Given the description of an element on the screen output the (x, y) to click on. 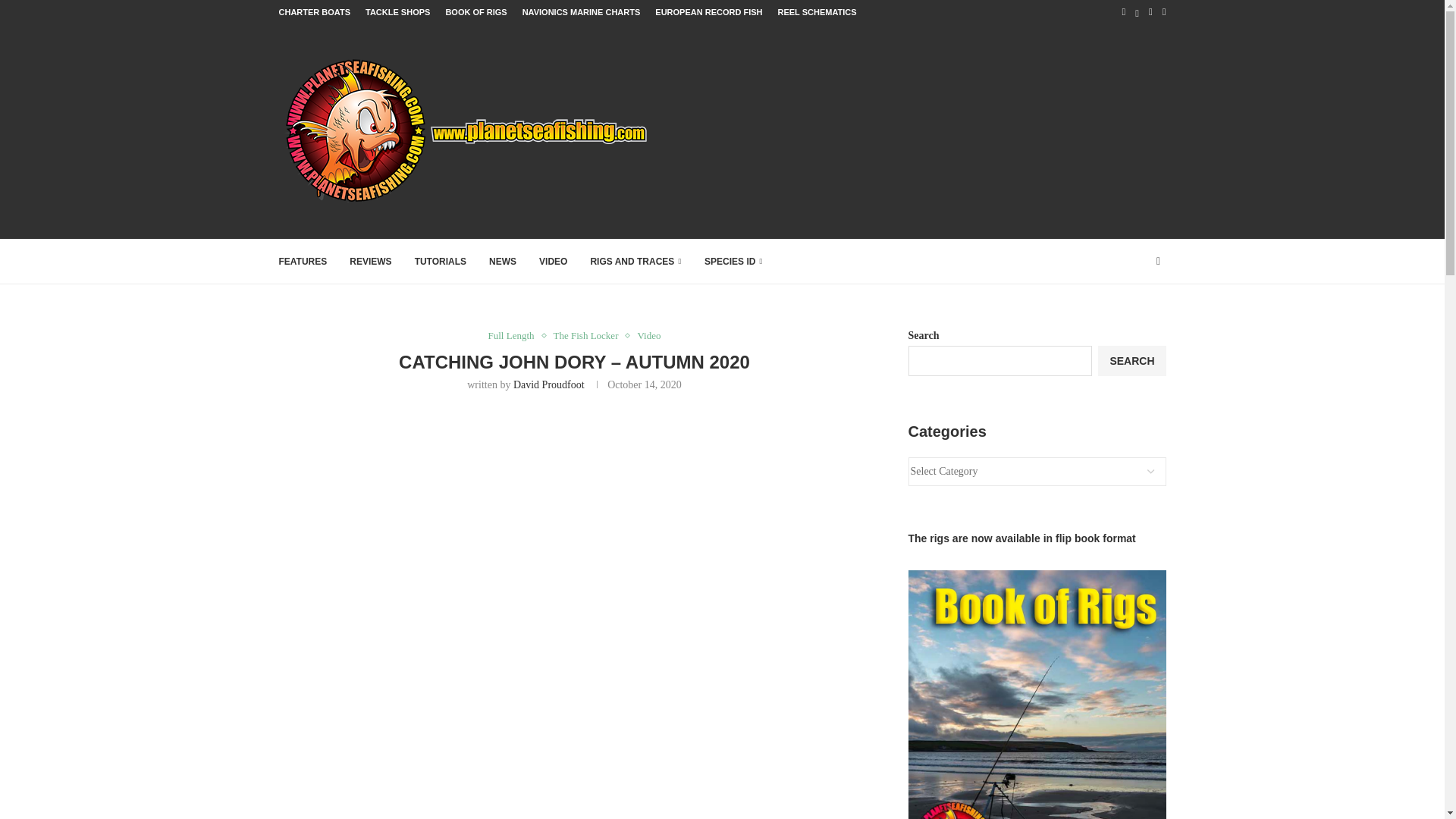
TUTORIALS (439, 261)
NAVIONICS MARINE CHARTS (581, 12)
The Fish Locker (589, 336)
BOOK OF RIGS (475, 12)
SPECIES ID (733, 261)
RIGS AND TRACES (635, 261)
David Proudfoot (549, 384)
TACKLE SHOPS (397, 12)
REVIEWS (370, 261)
REEL SCHEMATICS (816, 12)
FEATURES (303, 261)
CHARTER BOATS (314, 12)
EUROPEAN RECORD FISH (708, 12)
Full Length (514, 336)
